Given the description of an element on the screen output the (x, y) to click on. 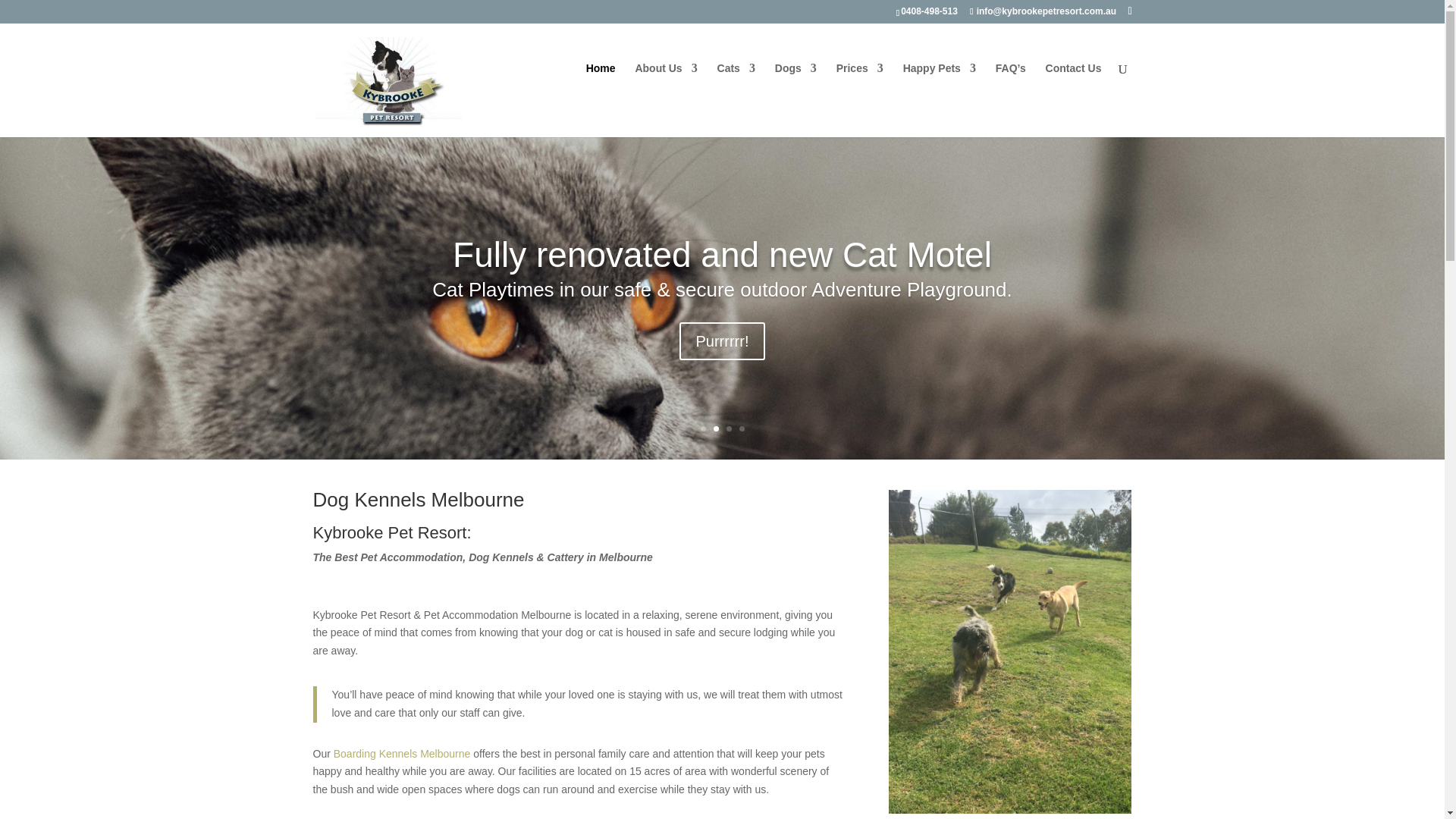
Happy Pets (938, 88)
0408-498-513 (932, 10)
About Us (665, 88)
Contact Us (1073, 88)
Prices (859, 88)
